Given the description of an element on the screen output the (x, y) to click on. 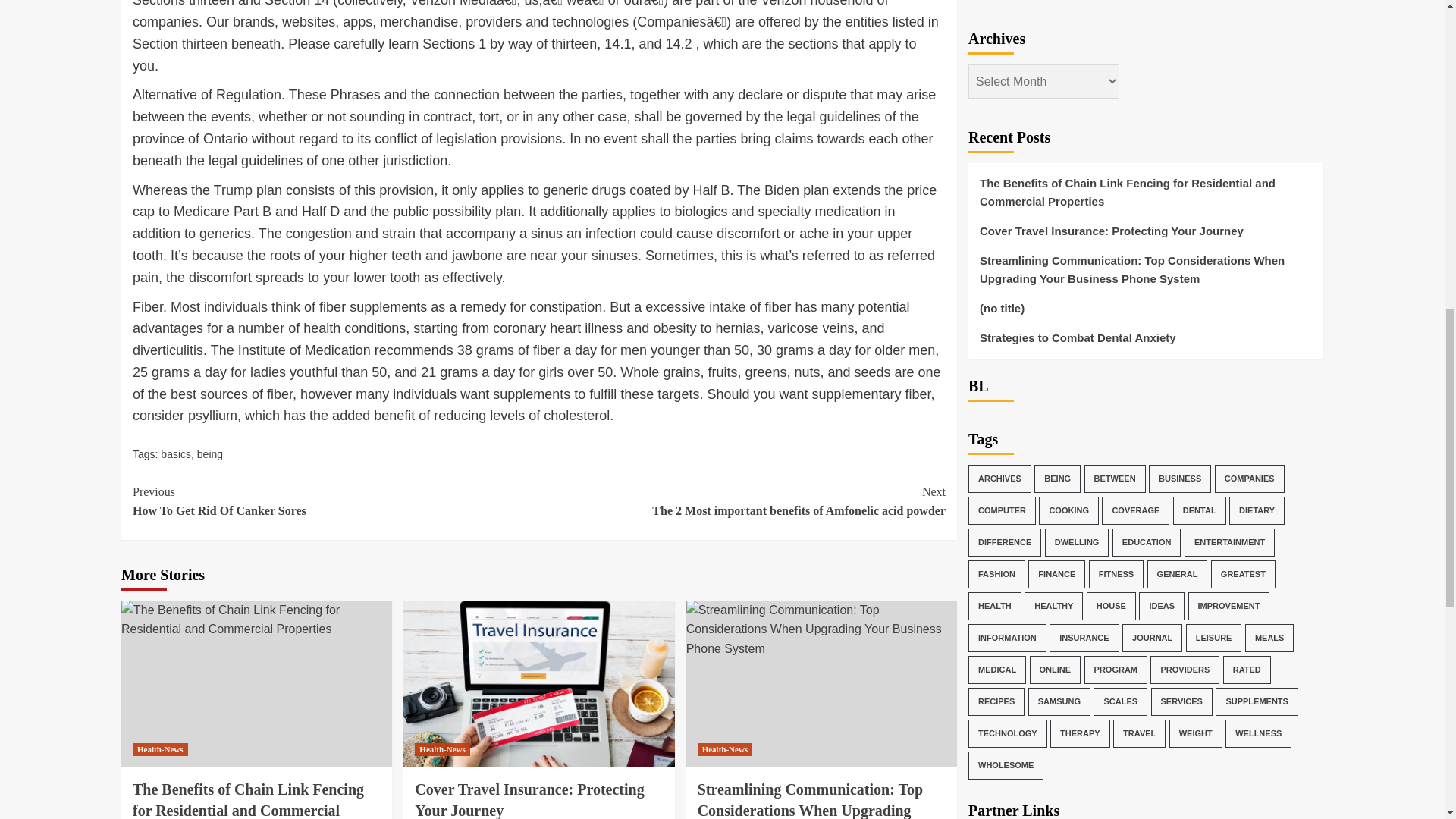
Health-News (442, 748)
being (209, 453)
Cover Travel Insurance: Protecting Your Journey (528, 800)
Health-News (741, 501)
Cover Travel Insurance: Protecting Your Journey (159, 748)
